Given the description of an element on the screen output the (x, y) to click on. 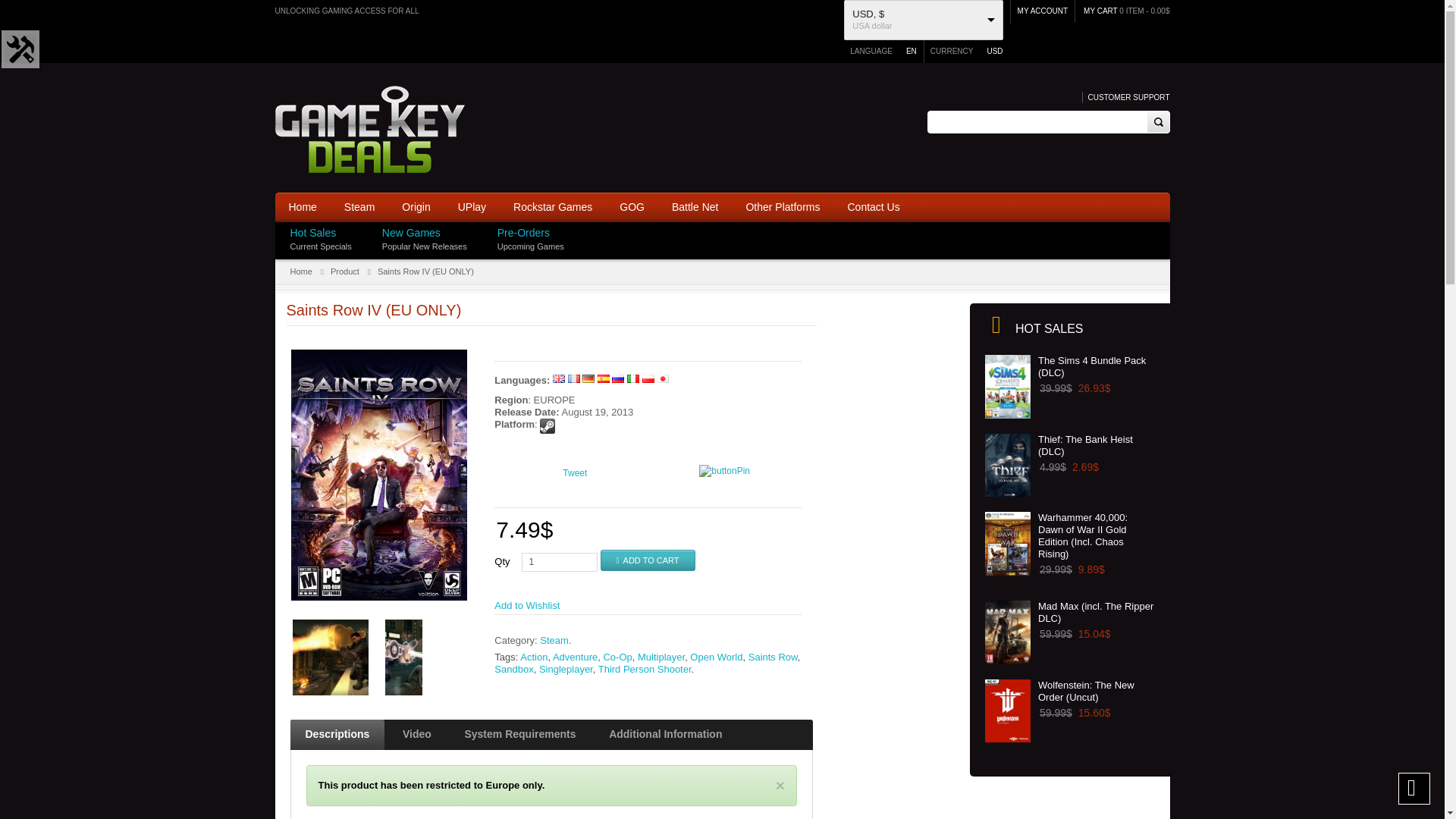
EN (906, 51)
CUSTOMER SUPPORT (1125, 97)
Game Key Deals (369, 128)
View your shopping bag (1101, 9)
Other Platforms (782, 207)
My Account (1042, 11)
Home (302, 207)
MY CART (1101, 9)
Facebook (1164, 229)
MY ACCOUNT (1042, 11)
Twitter (1164, 244)
UPlay (471, 207)
GOG (631, 207)
Rockstar Games (552, 207)
Steam (359, 207)
